Given the description of an element on the screen output the (x, y) to click on. 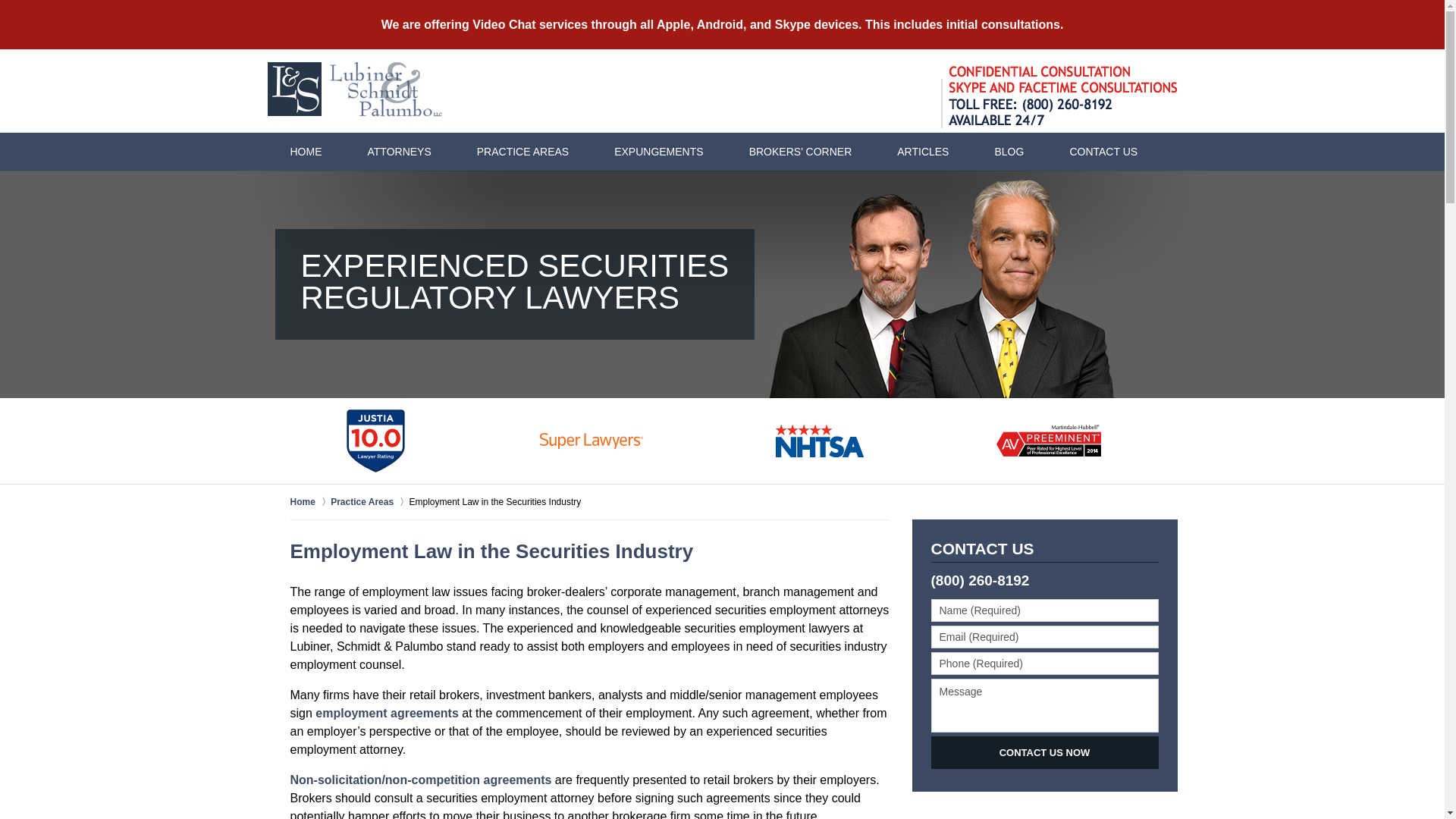
BLOG (1008, 151)
Home (309, 501)
ARTICLES (923, 151)
Back to Home (356, 89)
PRACTICE AREAS (522, 151)
HOME (304, 151)
EXPUNGEMENTS (658, 151)
employment agreements (386, 712)
Practice Areas (369, 501)
ATTORNEYS (397, 151)
CONTACT US (1103, 151)
